Given the description of an element on the screen output the (x, y) to click on. 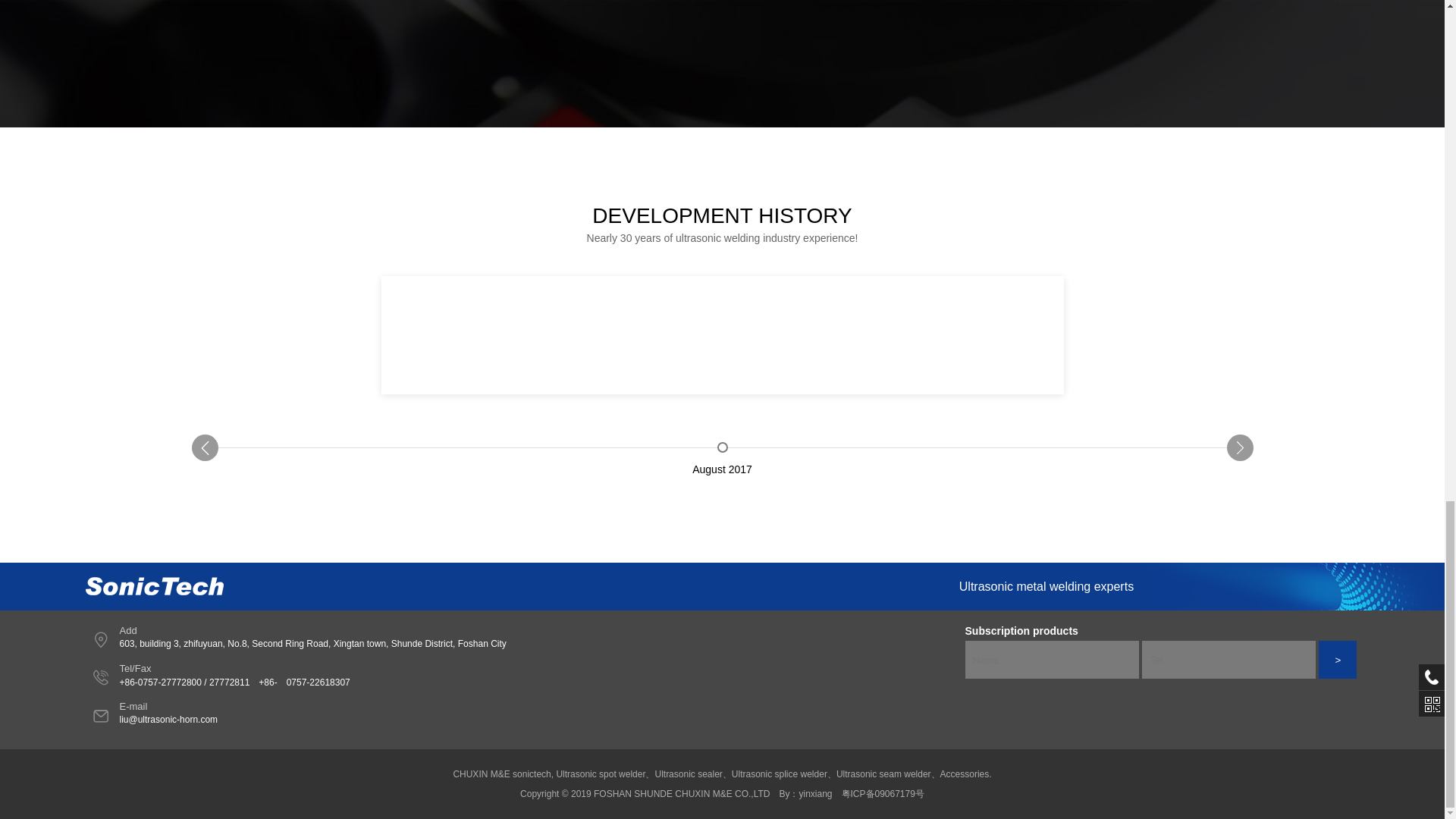
yinxiang (814, 793)
